Given the description of an element on the screen output the (x, y) to click on. 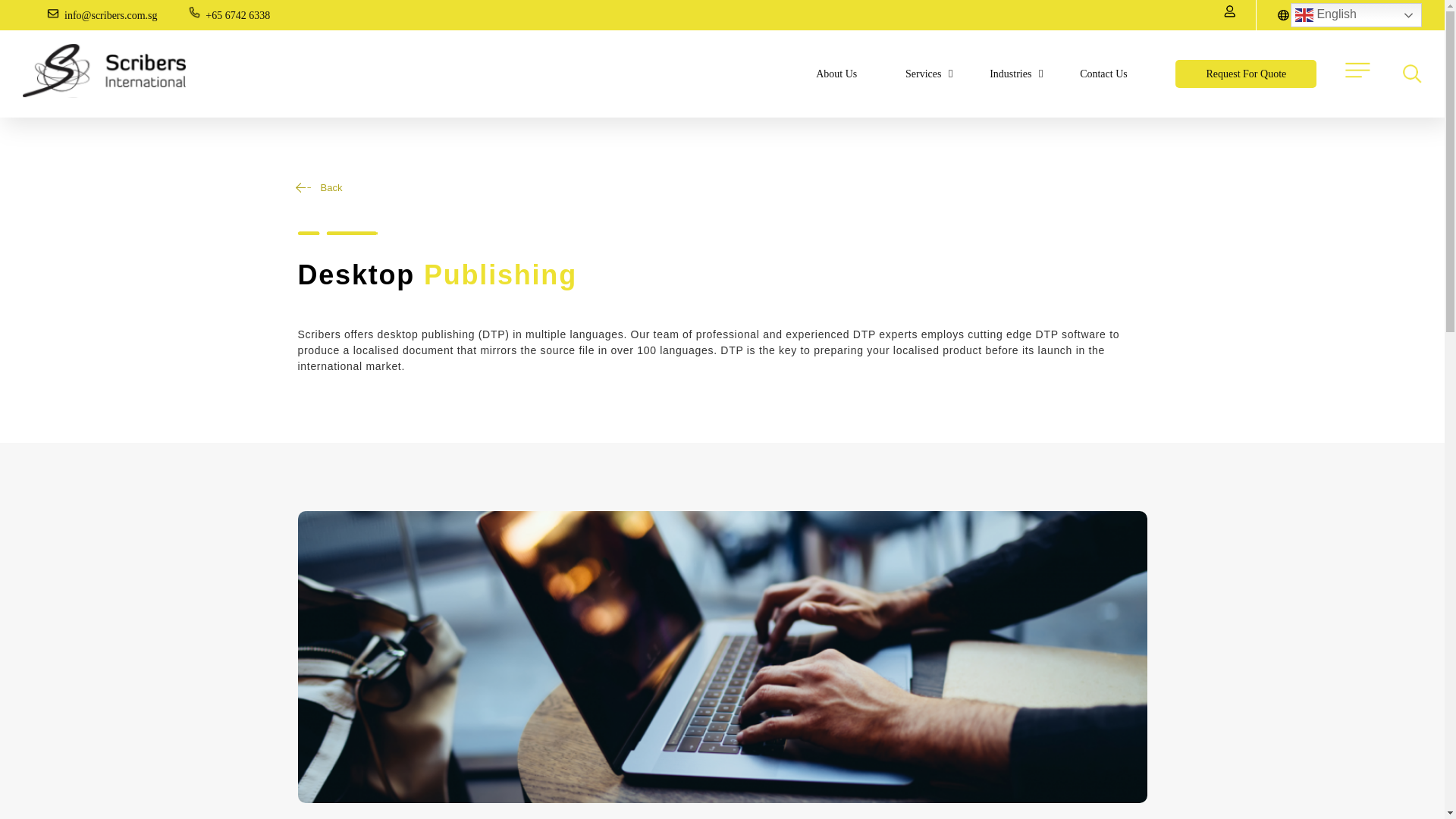
Request For Quote (1245, 73)
Services (922, 73)
Contact Us (1103, 73)
About Us (836, 73)
Industries (1010, 73)
English (1356, 15)
